Given the description of an element on the screen output the (x, y) to click on. 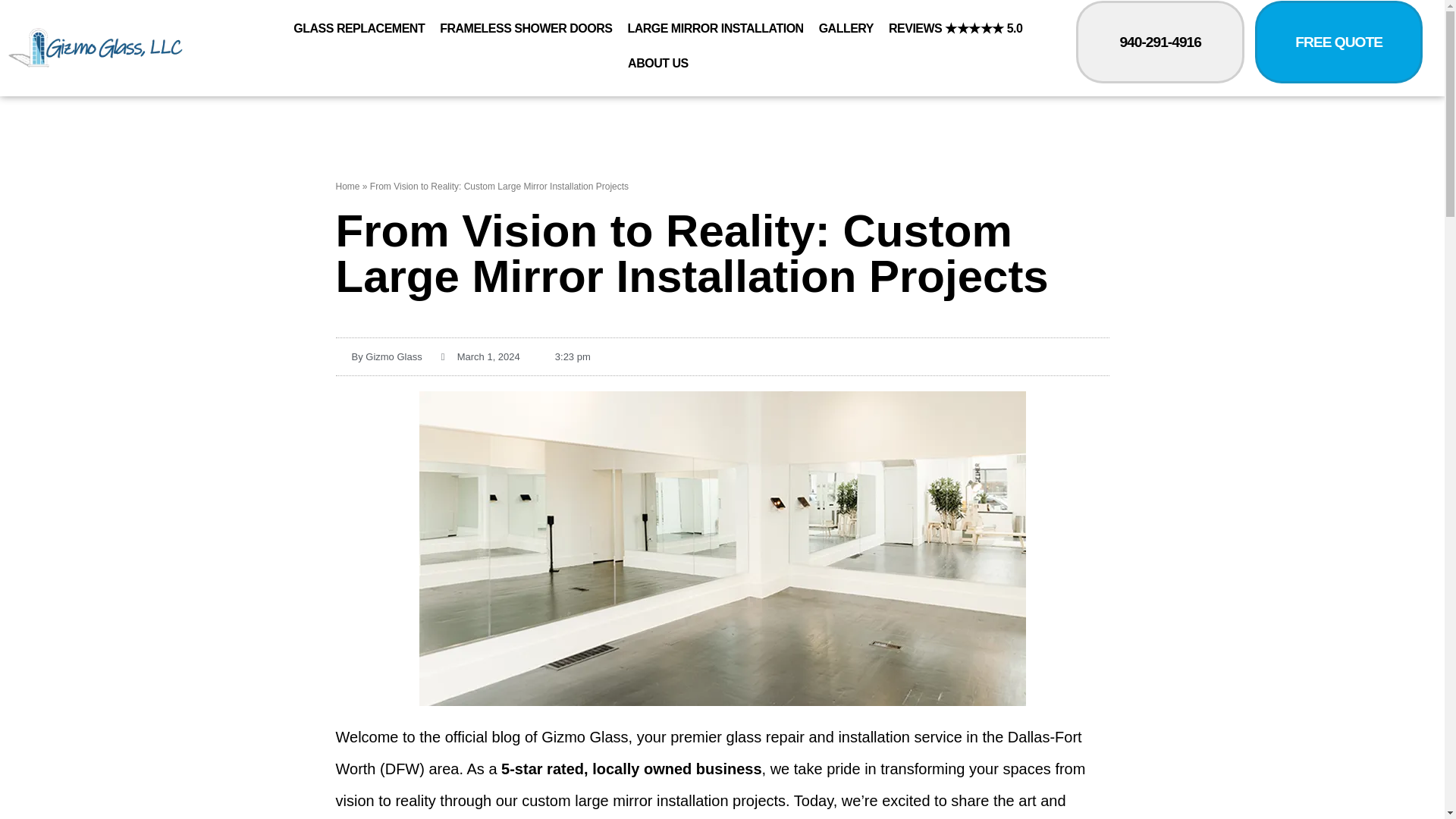
LARGE MIRROR INSTALLATION (715, 28)
GLASS REPLACEMENT (358, 28)
FRAMELESS SHOWER DOORS (526, 28)
GALLERY (845, 28)
